Given the description of an element on the screen output the (x, y) to click on. 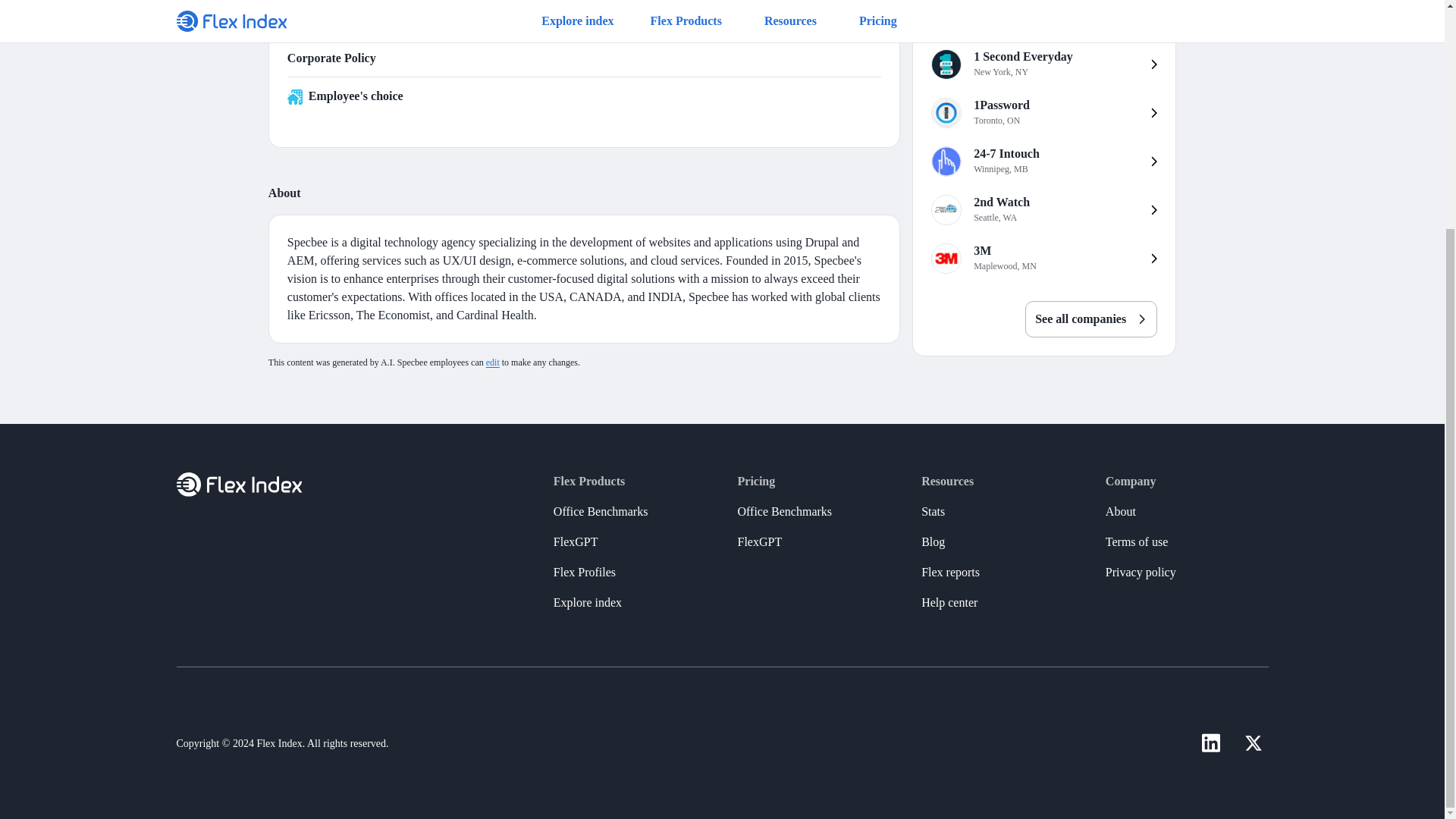
Explore index (587, 603)
FlexGPT (1043, 161)
See all companies (575, 542)
See all companies (1091, 319)
edit (1091, 309)
Office Benchmarks (492, 362)
Office Benchmarks (1043, 258)
